Given the description of an element on the screen output the (x, y) to click on. 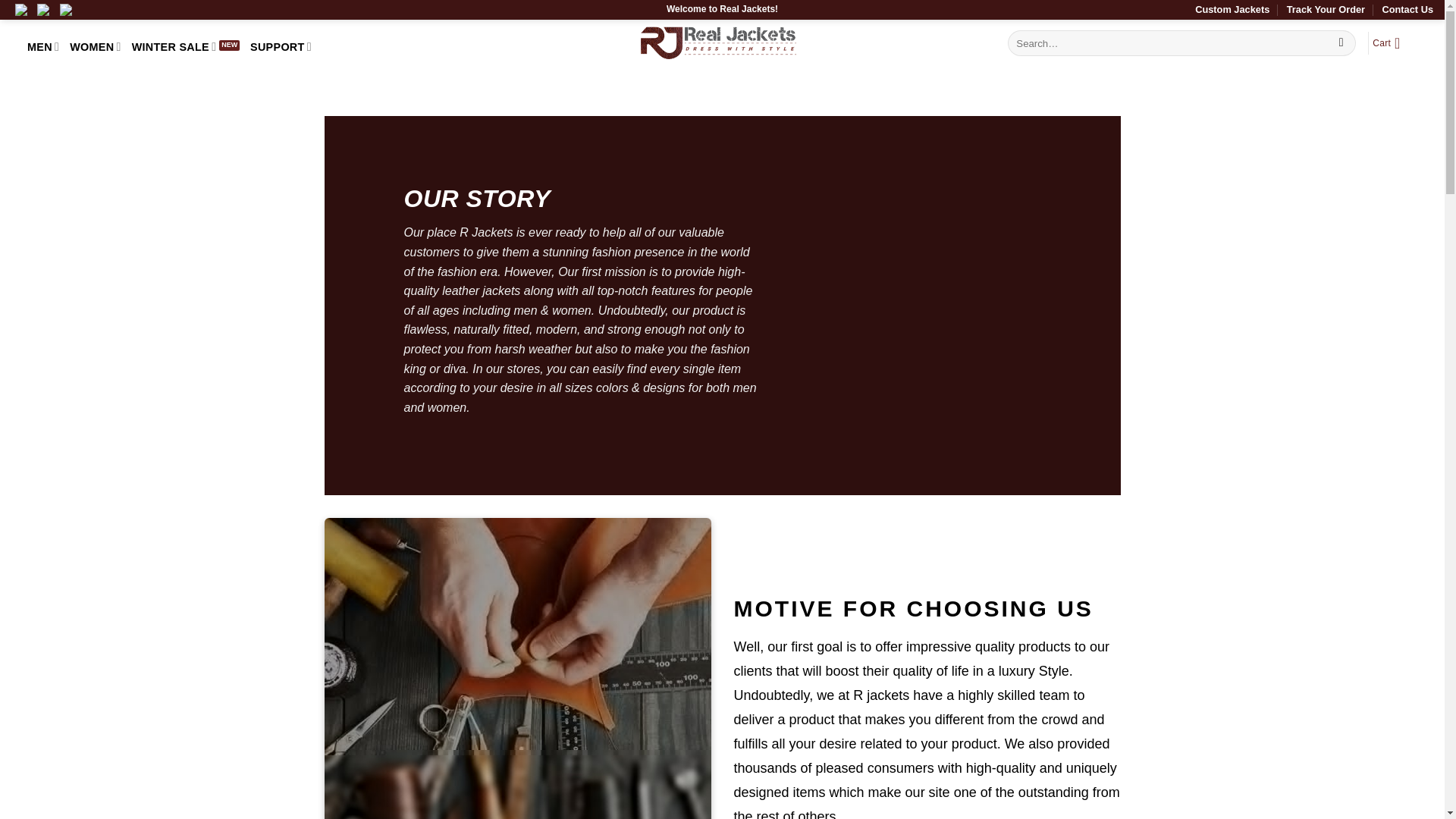
Track Your Order (1326, 9)
WOMEN (94, 46)
Custom Jackets (1232, 9)
MEN (43, 46)
Contact Us (1406, 9)
Real Jackets - Real Leather Jackets (717, 42)
Cart (1391, 42)
